Given the description of an element on the screen output the (x, y) to click on. 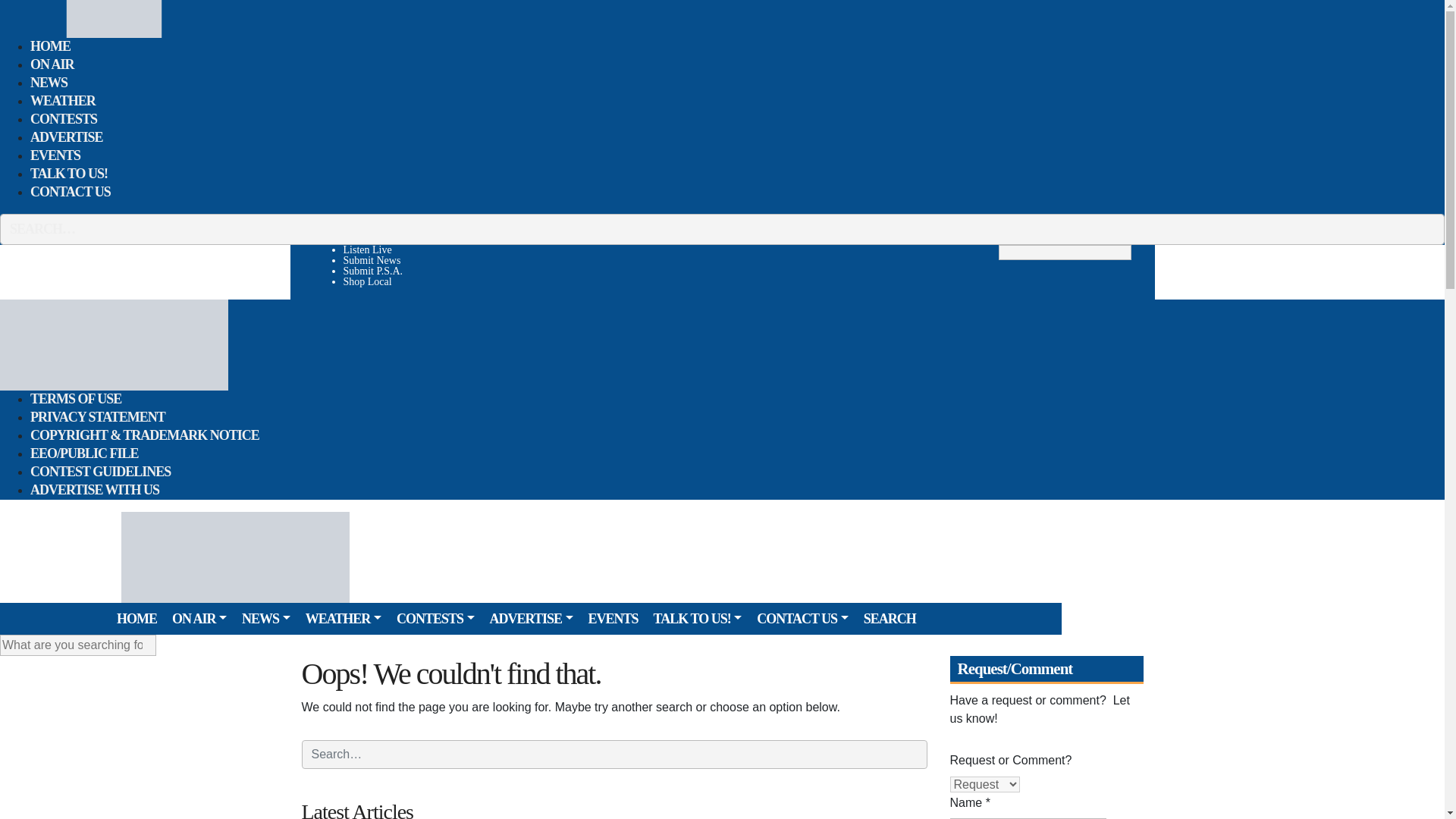
HOME (49, 46)
ON AIR (52, 64)
STAR 94.3 (114, 17)
ADVERTISE (65, 137)
NEWS (48, 82)
EVENTS (55, 155)
CONTACT US (70, 191)
Search for: (1064, 252)
TALK TO US! (68, 173)
STAR 94.3 (114, 343)
